Given the description of an element on the screen output the (x, y) to click on. 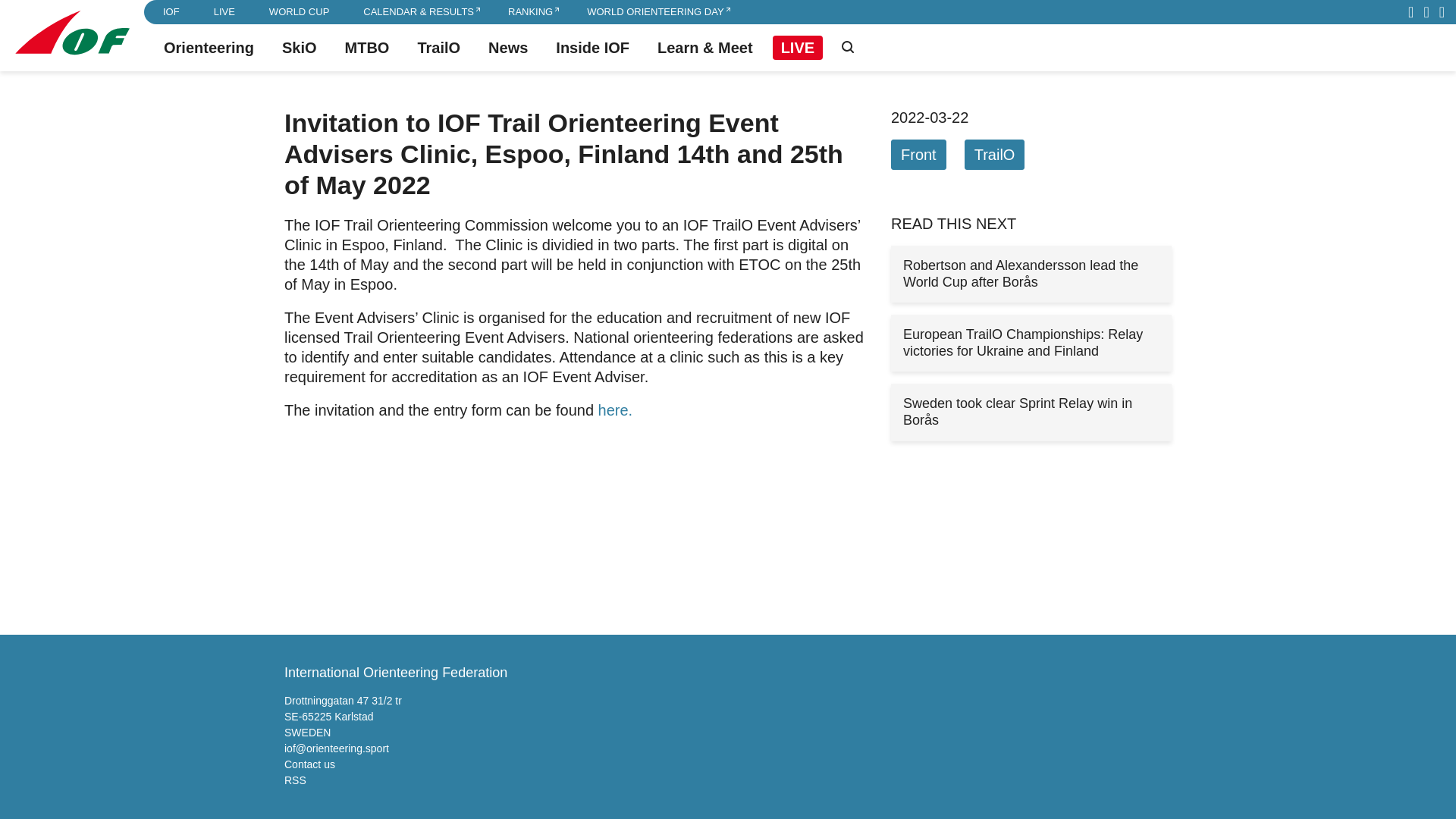
IOF (171, 11)
WORLD ORIENTEERING DAY (654, 11)
Orienteering (208, 47)
LIVE (224, 11)
SkiO (298, 47)
RANKING (530, 11)
WORLD CUP (299, 11)
